Given the description of an element on the screen output the (x, y) to click on. 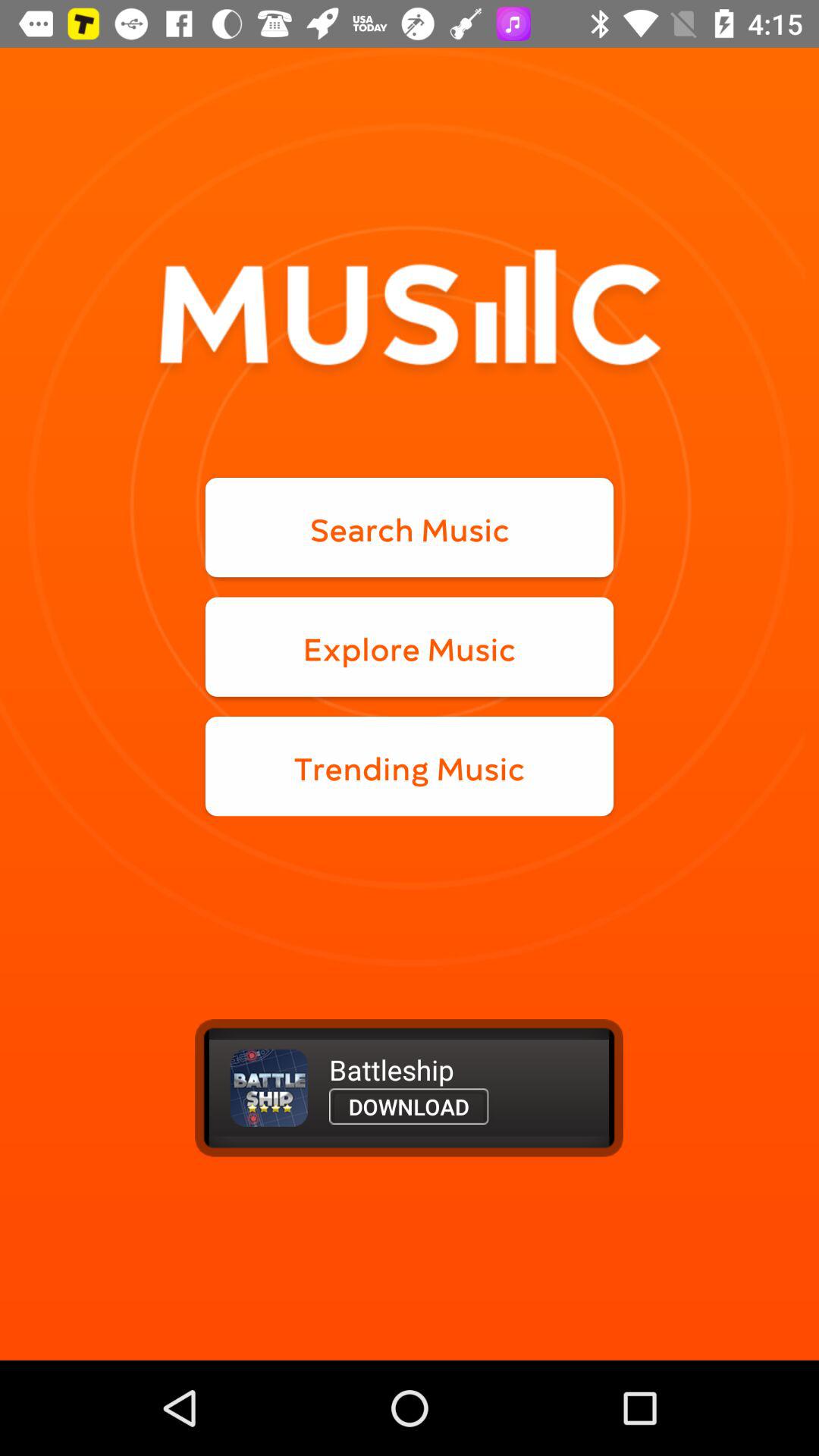
open the download icon (408, 1106)
